Given the description of an element on the screen output the (x, y) to click on. 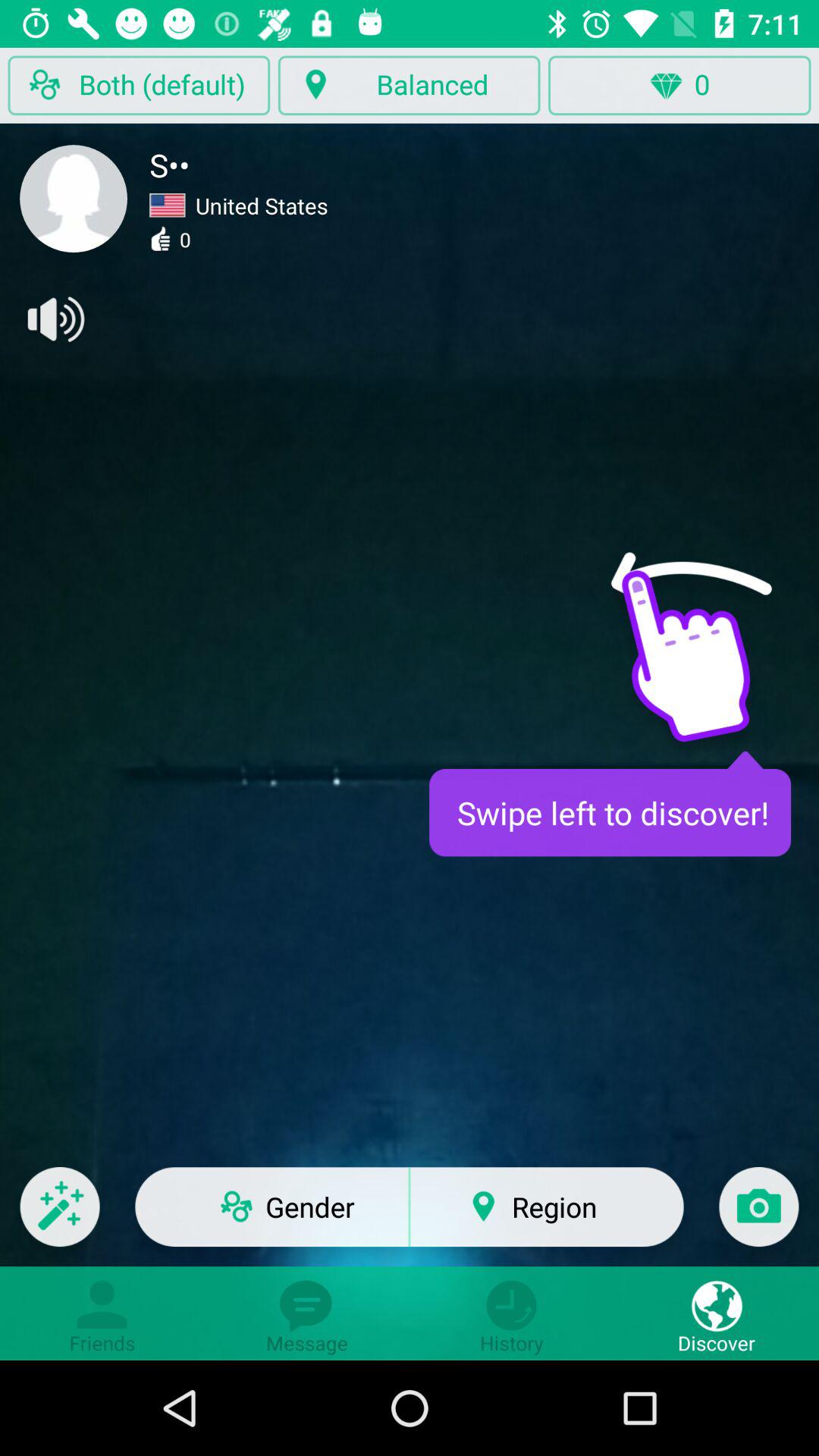
select the profile under both default of the page (73, 197)
click on the left arrow at middle right of the page (690, 587)
select the icon on left to the gender button on the web page (59, 1216)
click on button left to 0 (409, 85)
click on hand icon (718, 668)
click on united states (238, 205)
select the button left to balanced (139, 85)
click on button right to friends (306, 1312)
